Given the description of an element on the screen output the (x, y) to click on. 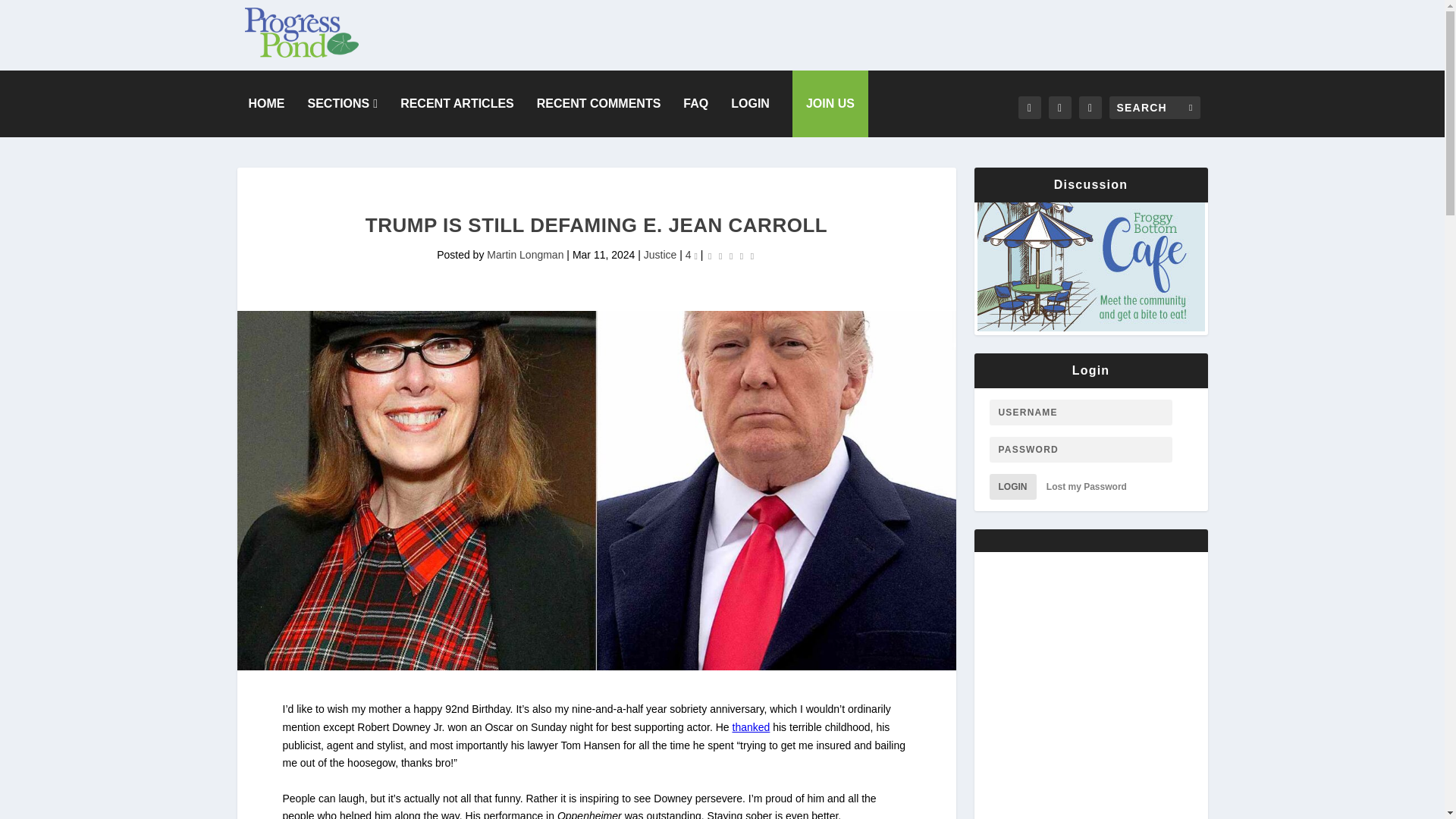
thanked (751, 727)
4 (691, 254)
Rating: 5.00 (730, 255)
RECENT ARTICLES (456, 103)
JOIN US (829, 103)
Search for: (1153, 107)
SECTIONS (342, 103)
Martin Longman (524, 254)
RECENT COMMENTS (599, 103)
Justice (660, 254)
Posts by Martin Longman (524, 254)
